Given the description of an element on the screen output the (x, y) to click on. 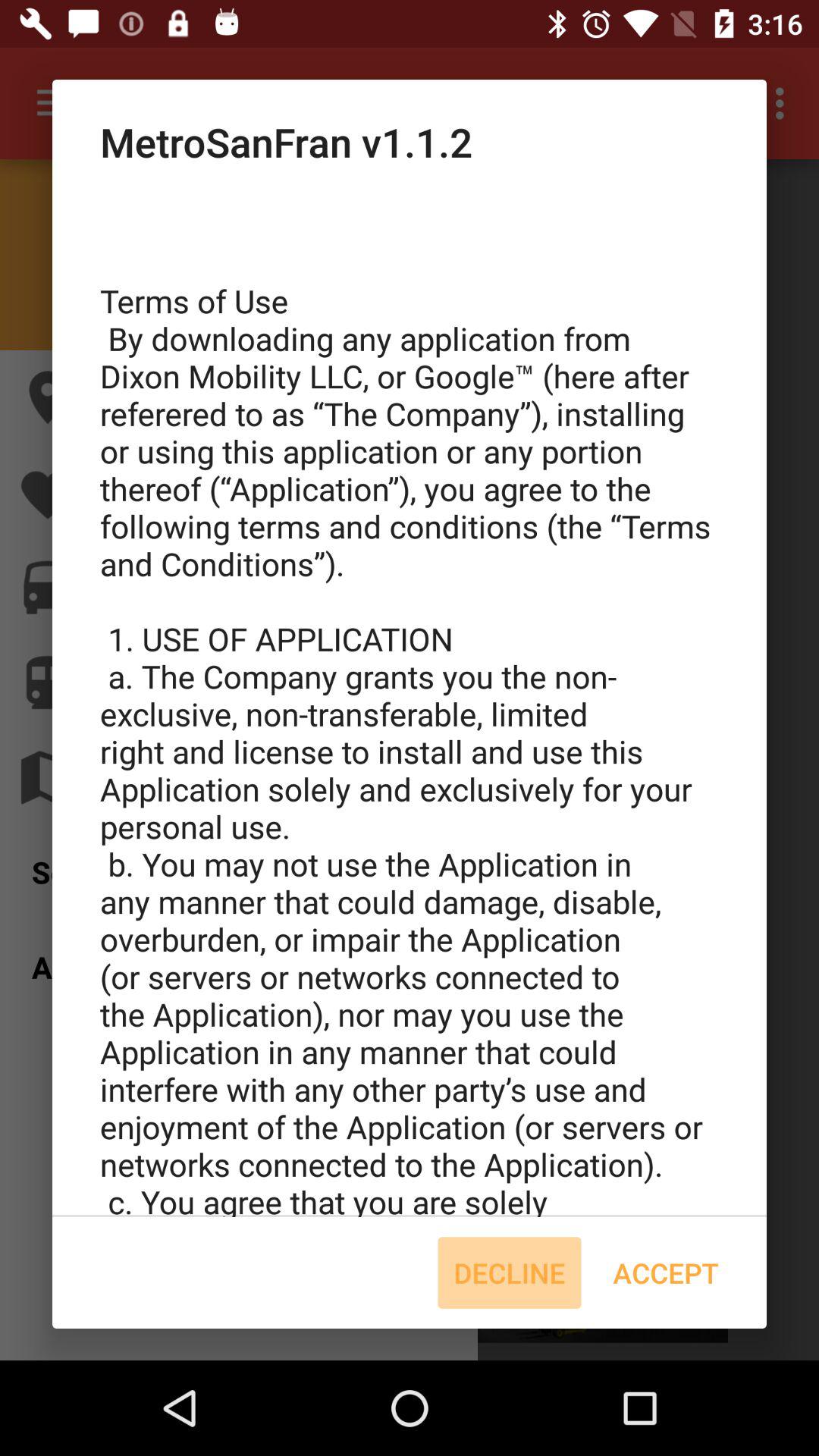
click the icon next to the accept (509, 1272)
